Given the description of an element on the screen output the (x, y) to click on. 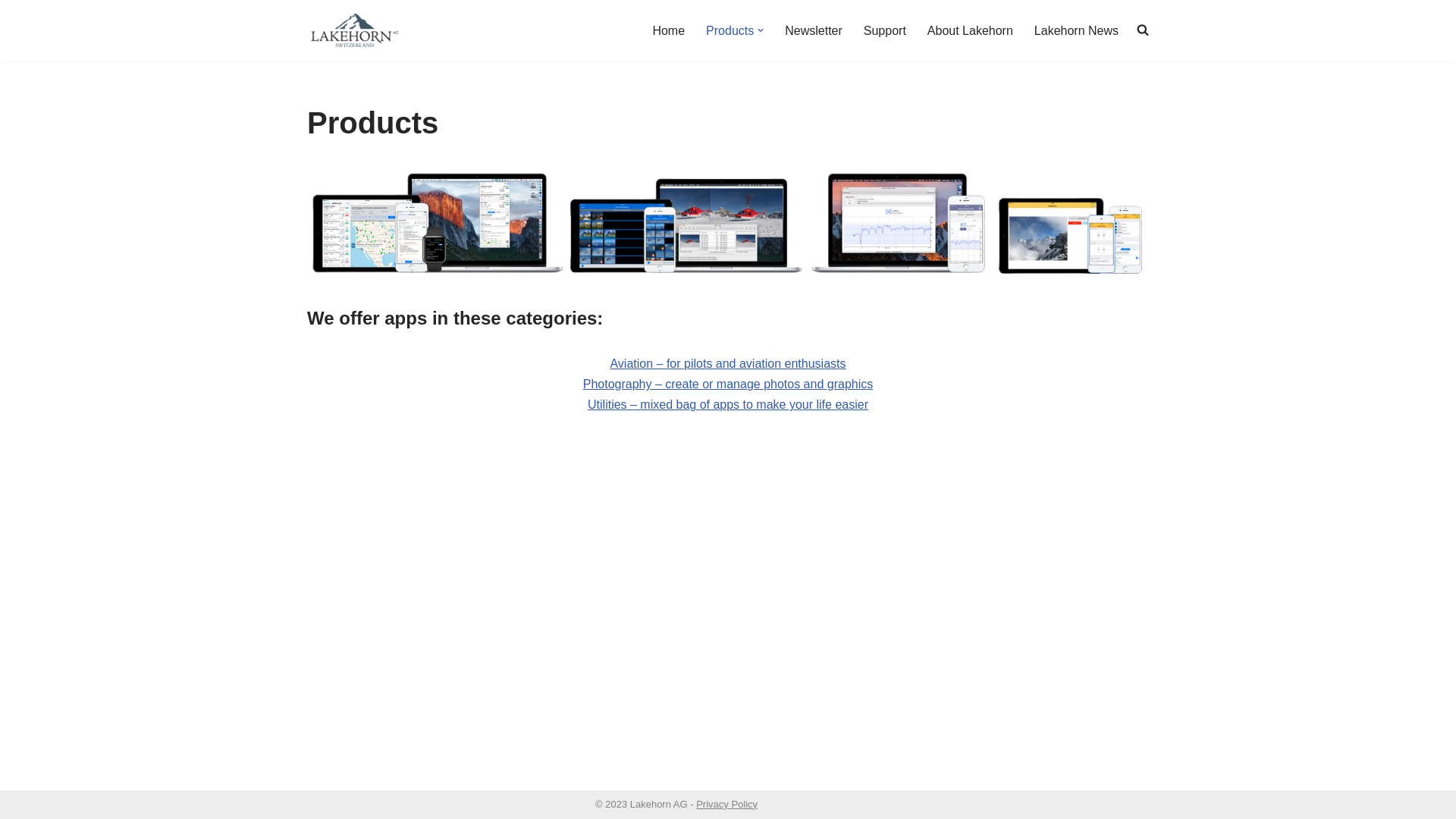
Support Element type: text (884, 30)
Lakehorn News Element type: text (1076, 30)
About Lakehorn Element type: text (970, 30)
Products Element type: text (729, 30)
Home Element type: text (668, 30)
Newsletter Element type: text (813, 30)
Privacy Policy Element type: text (726, 803)
Skip to content Element type: text (11, 31)
